Given the description of an element on the screen output the (x, y) to click on. 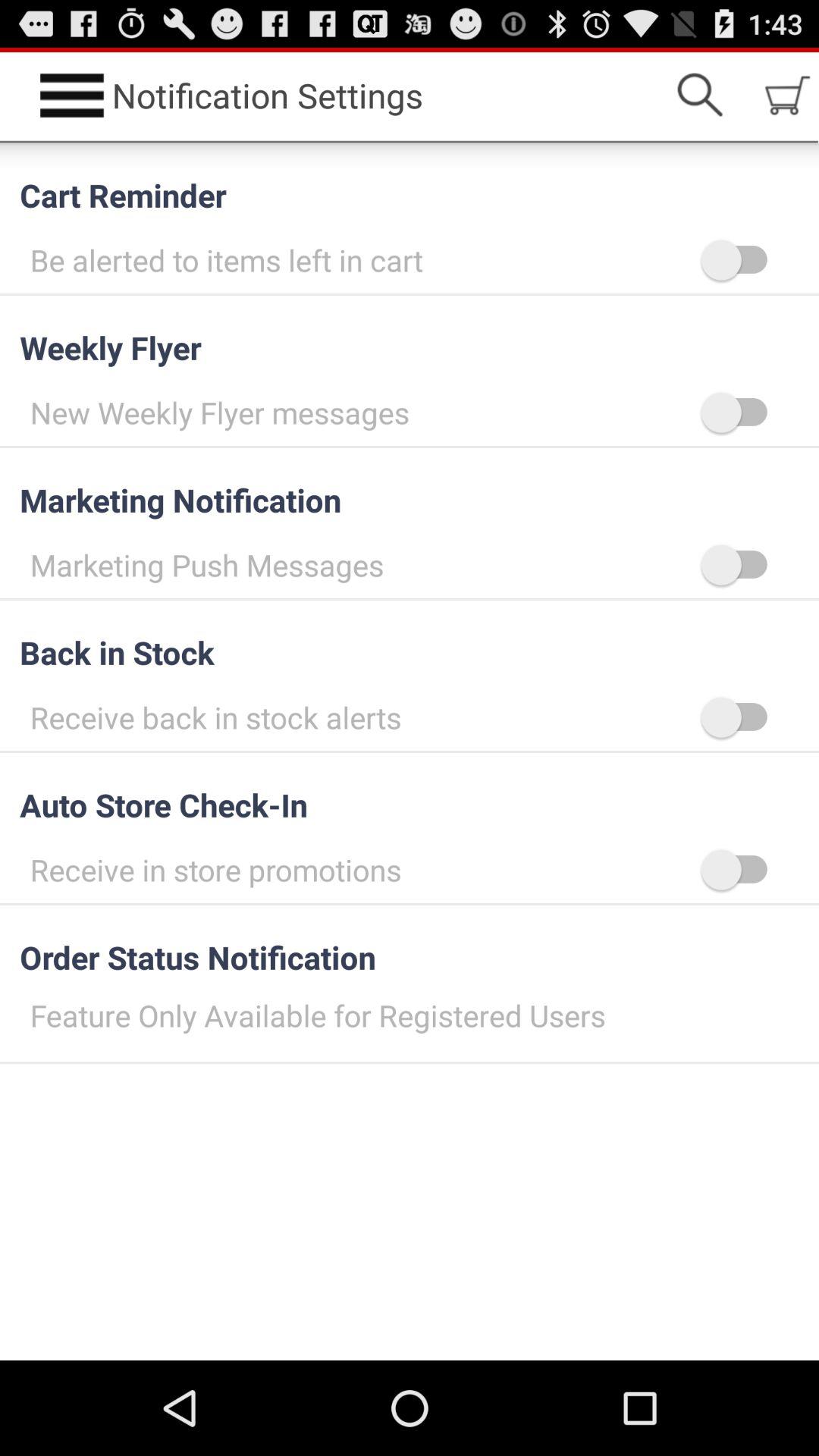
open the icon next to notification settings (699, 95)
